Given the description of an element on the screen output the (x, y) to click on. 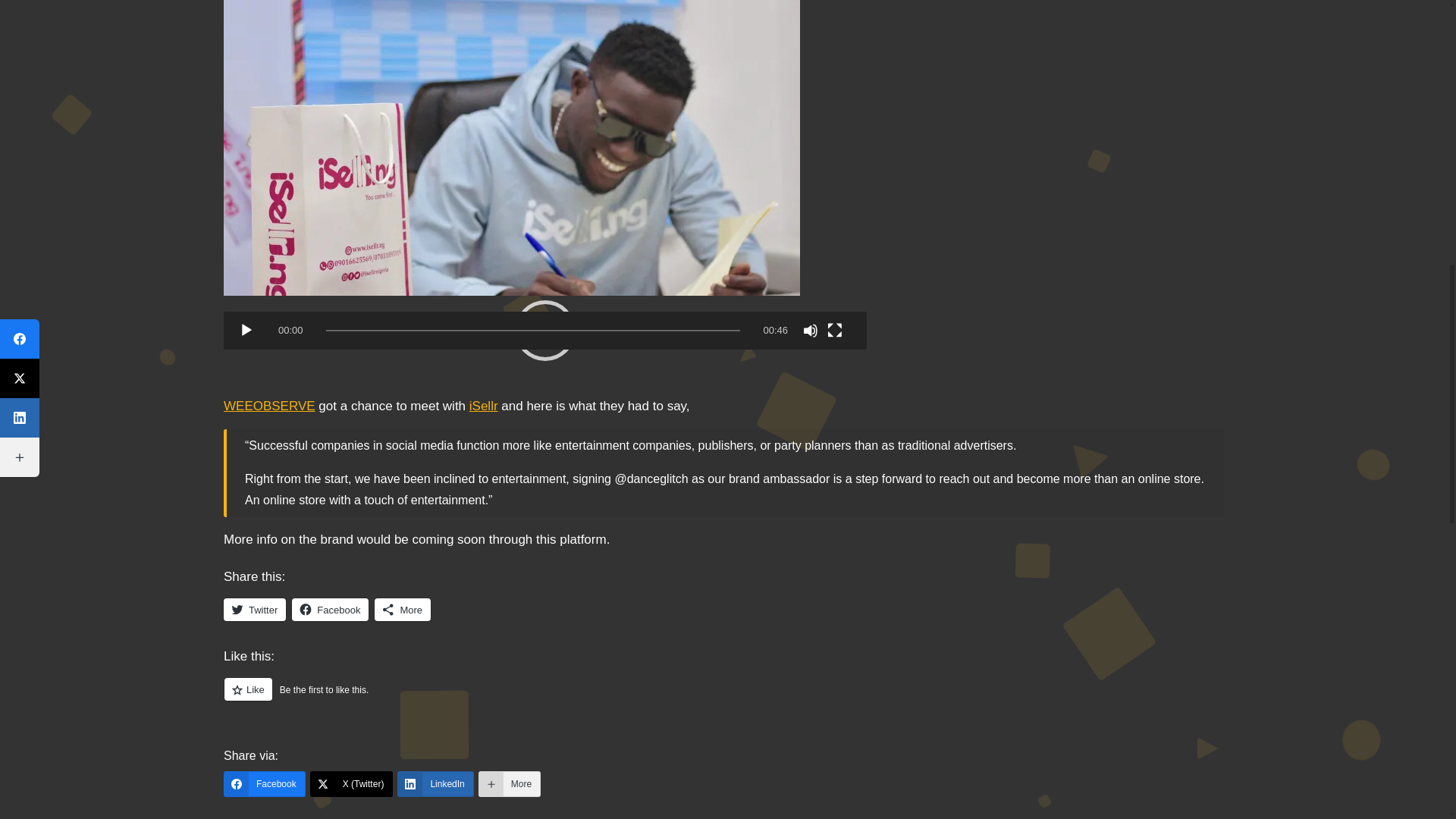
Play (245, 330)
Click to share on Twitter (254, 609)
Like or Reblog (724, 698)
Fullscreen (835, 330)
Click to share on Facebook (330, 609)
Mute (810, 330)
